Given the description of an element on the screen output the (x, y) to click on. 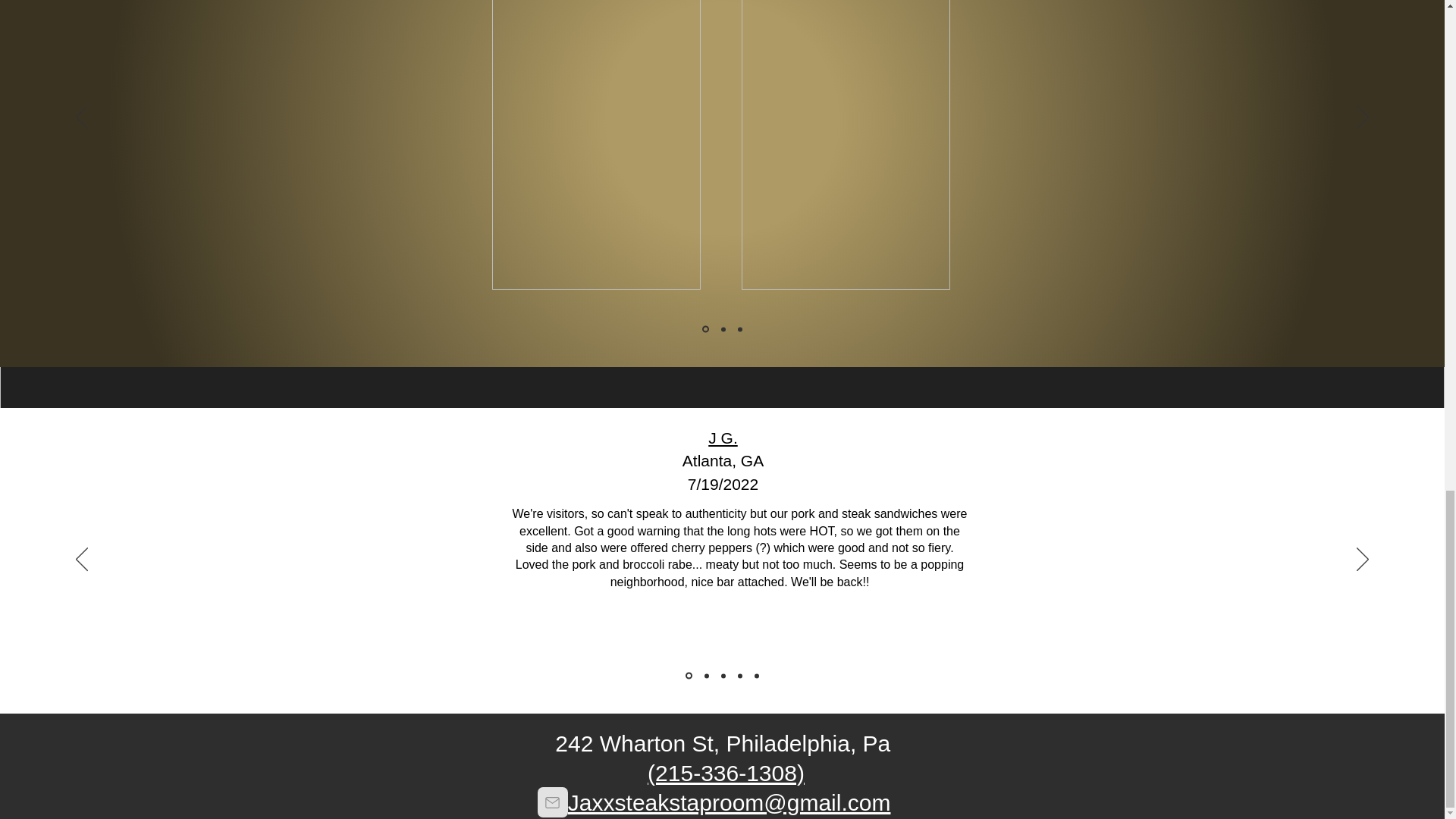
J G. (722, 437)
